Given the description of an element on the screen output the (x, y) to click on. 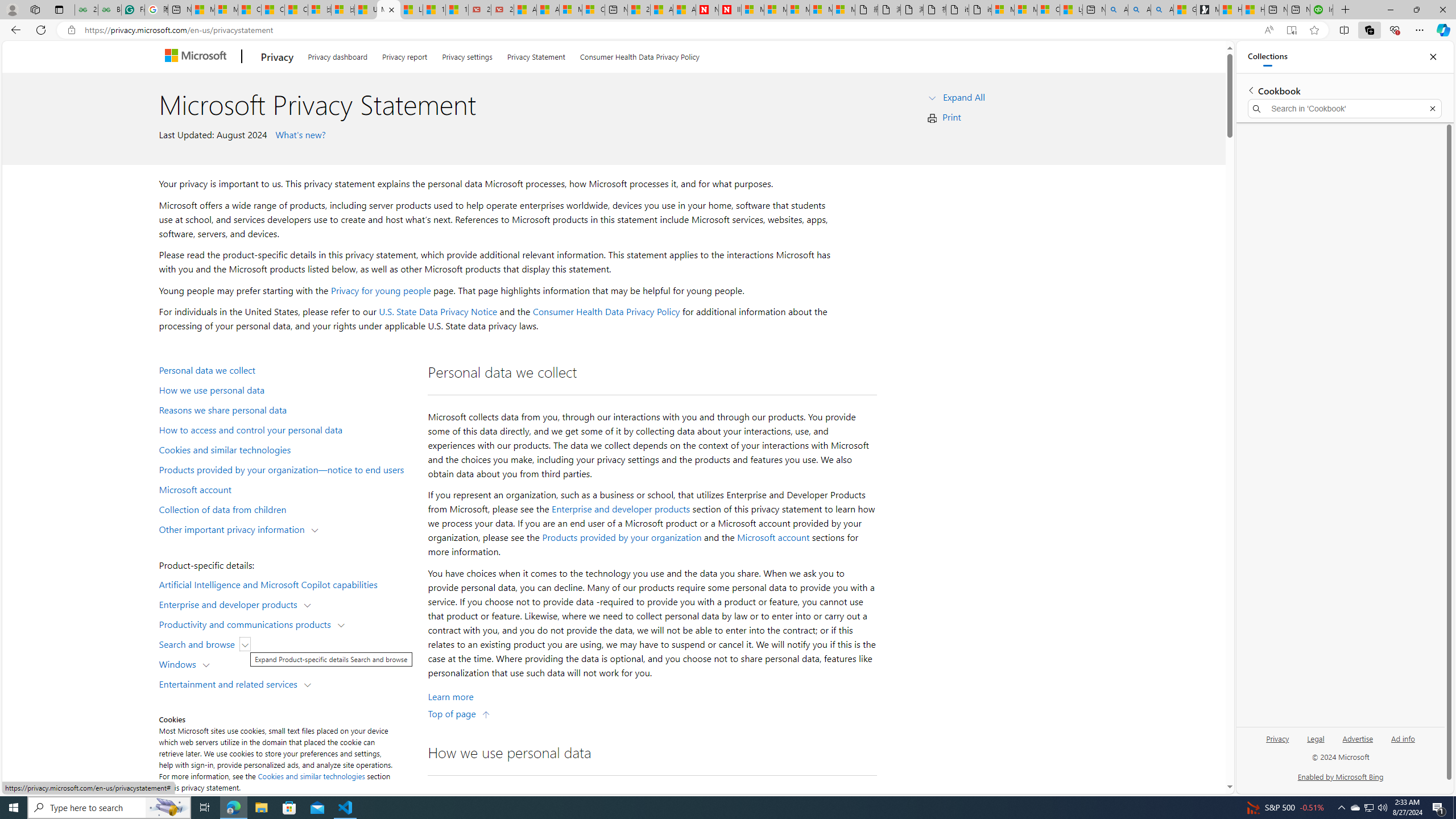
Other important privacy information (234, 528)
How to access and control your personal data (287, 428)
Enterprise and developer products (230, 603)
Productivity and communications products (247, 623)
USA TODAY - MSN (365, 9)
Privacy settings (466, 54)
